Given the description of an element on the screen output the (x, y) to click on. 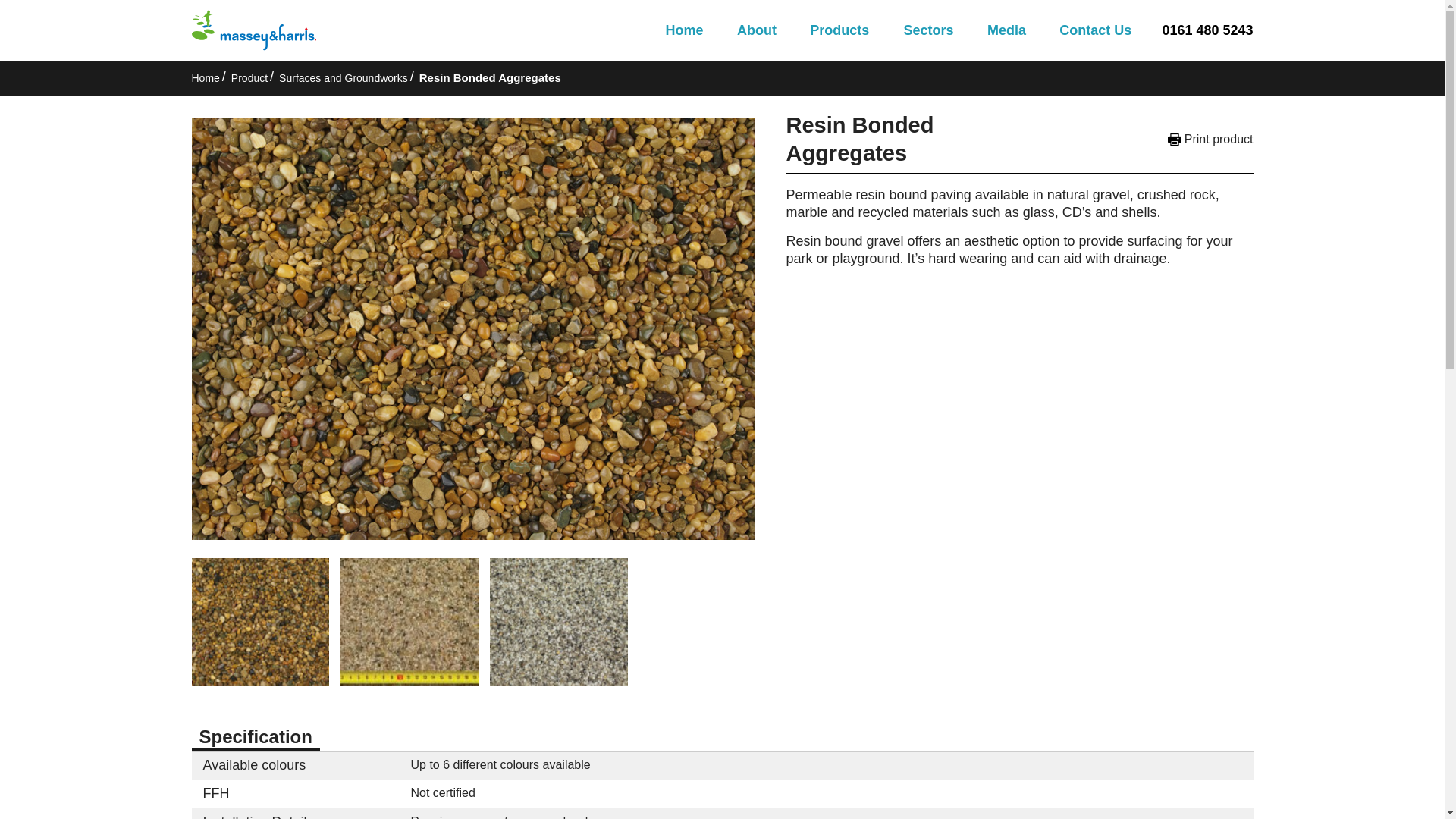
About (756, 31)
Home (684, 31)
Massey and Harris home (252, 30)
Products (839, 31)
